Given the description of an element on the screen output the (x, y) to click on. 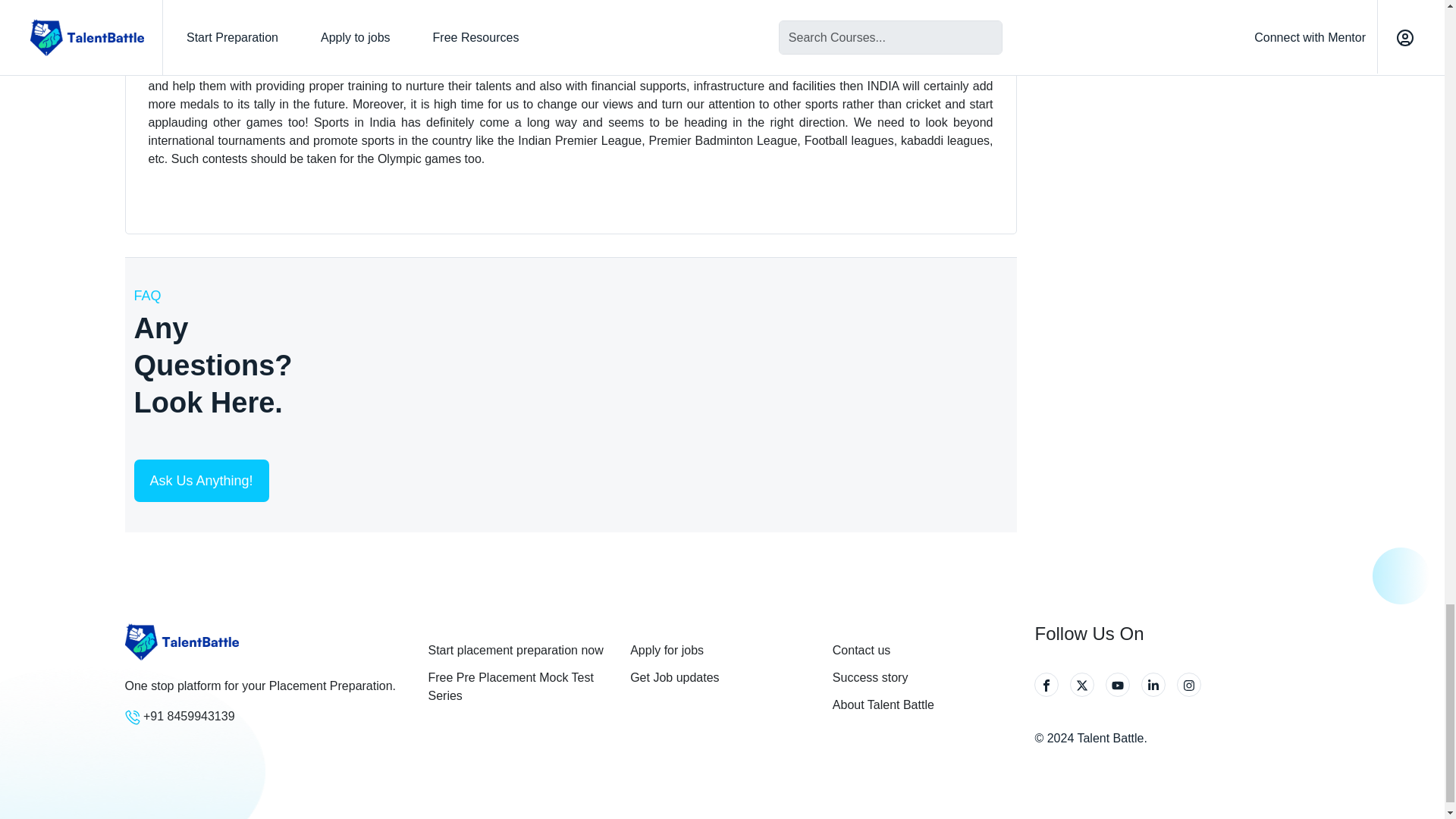
Ask Us Anything! (200, 480)
Apply for jobs (721, 650)
Free Pre Placement Mock Test Series (519, 687)
Success story (924, 678)
Get Job updates (721, 678)
Start placement preparation now (519, 650)
